Given the description of an element on the screen output the (x, y) to click on. 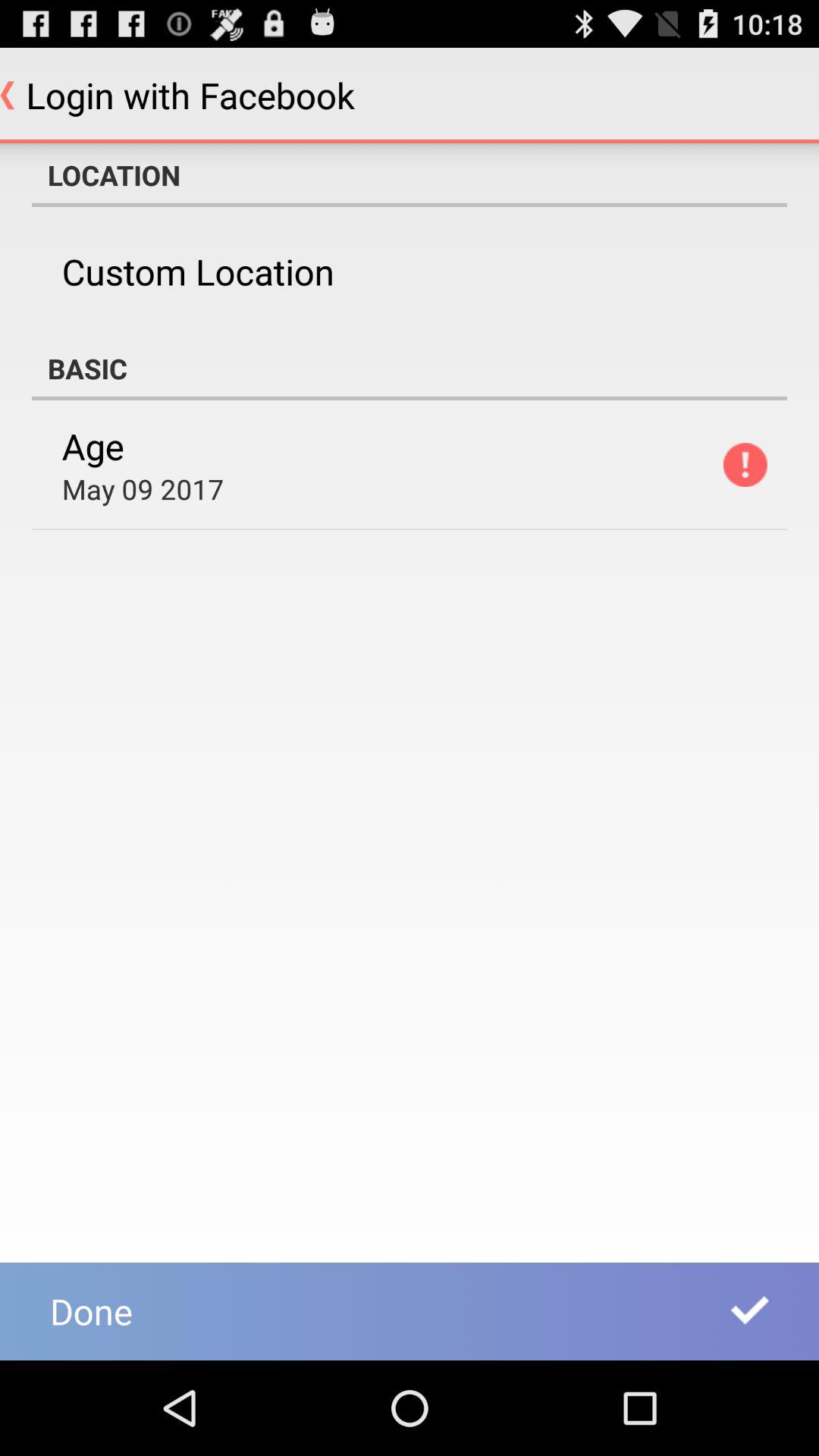
click item below the basic icon (745, 464)
